Given the description of an element on the screen output the (x, y) to click on. 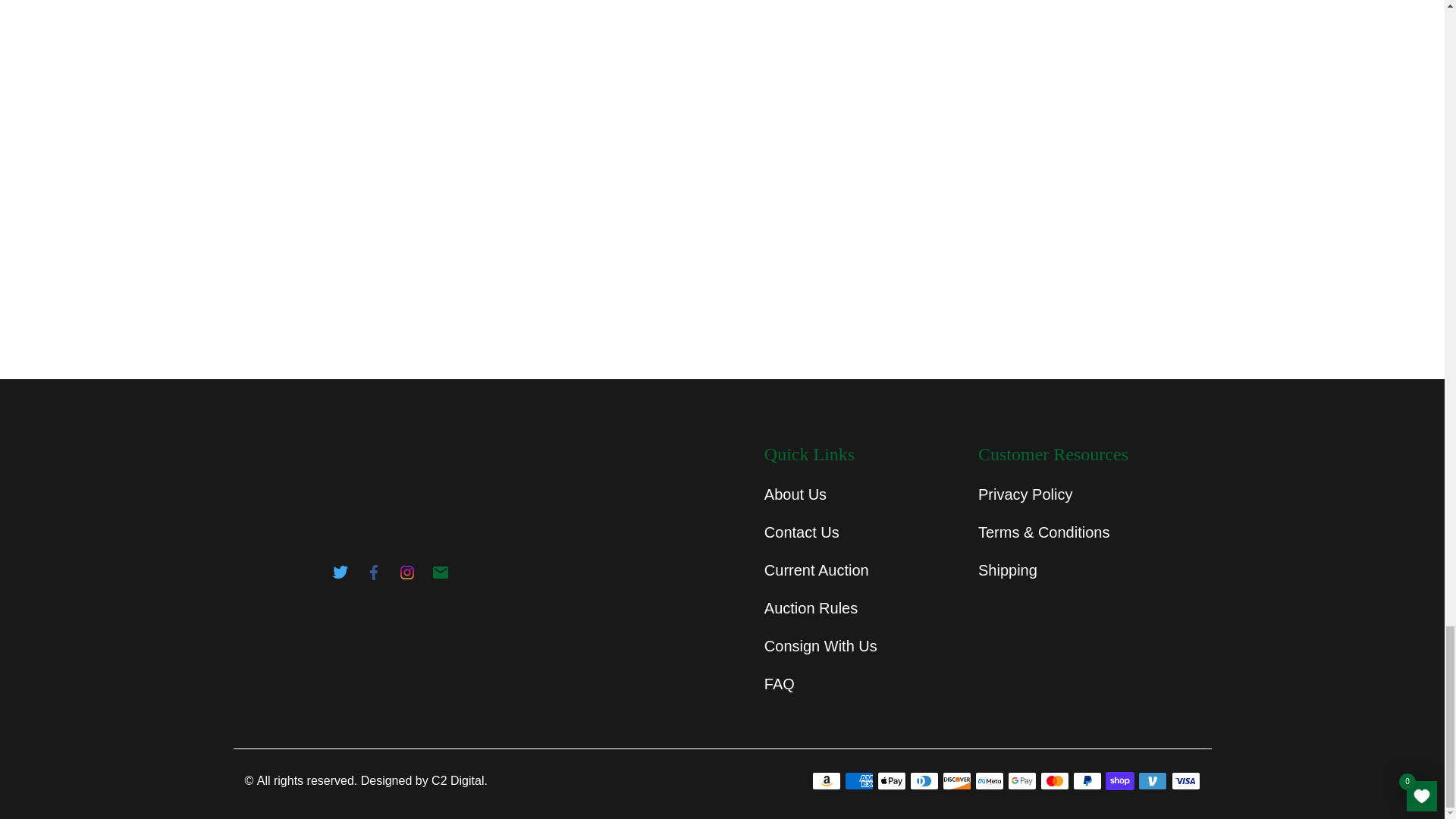
Discover (956, 781)
Diners Club (924, 781)
Mastercard (1054, 781)
Gem Dragon Auctions  (384, 503)
PayPal (1087, 781)
Shop Pay (1119, 781)
Gem Dragon Auctions  on Facebook (372, 576)
Email Gem Dragon Auctions  (439, 576)
Apple Pay (891, 781)
American Express (858, 781)
Meta Pay (989, 781)
Gem Dragon Auctions  on Instagram (405, 576)
Amazon (826, 781)
Gem Dragon Auctions  on Twitter (339, 576)
Google Pay (1021, 781)
